Given the description of an element on the screen output the (x, y) to click on. 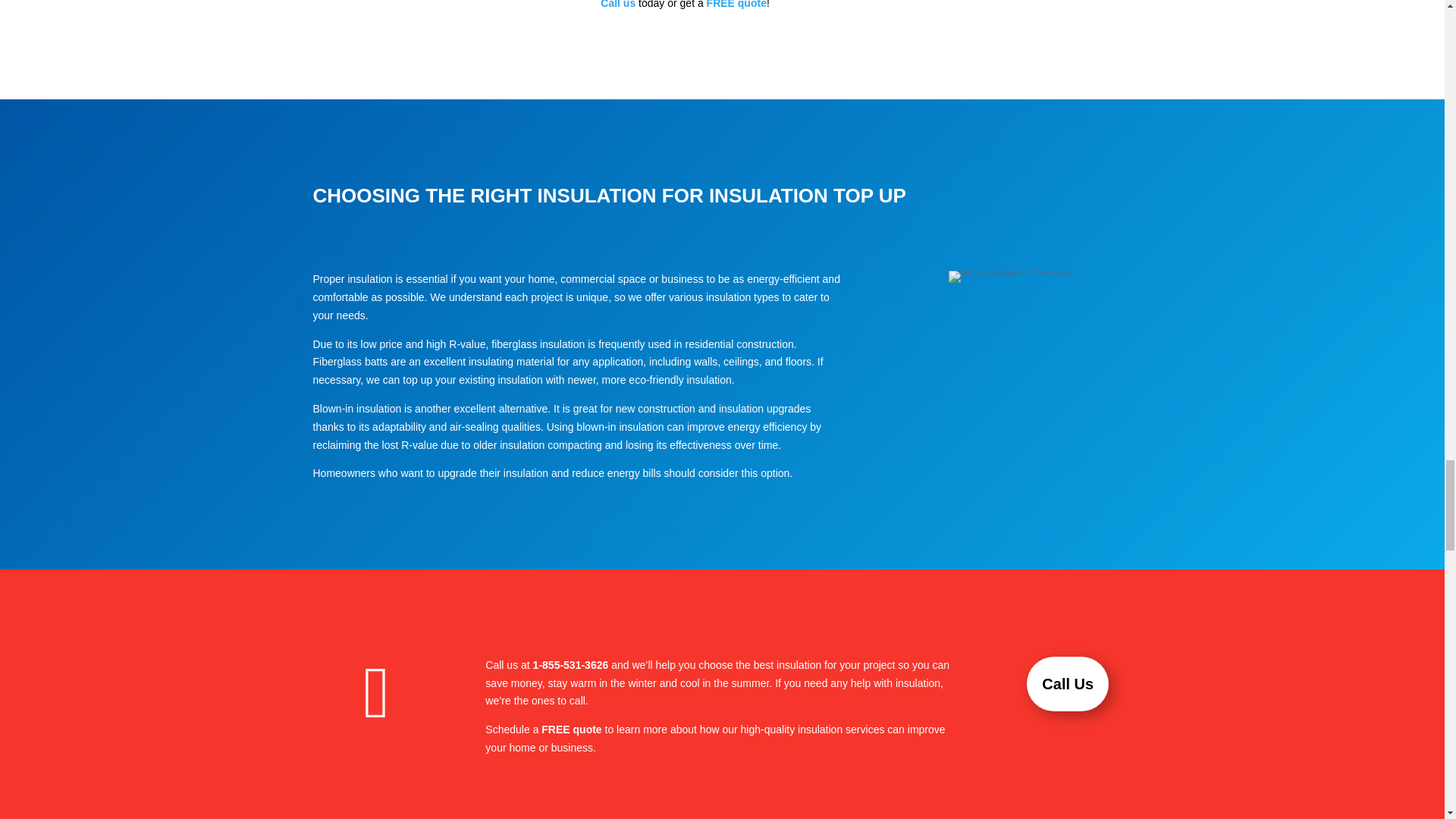
best-insulation-for-attic (1010, 276)
